Given the description of an element on the screen output the (x, y) to click on. 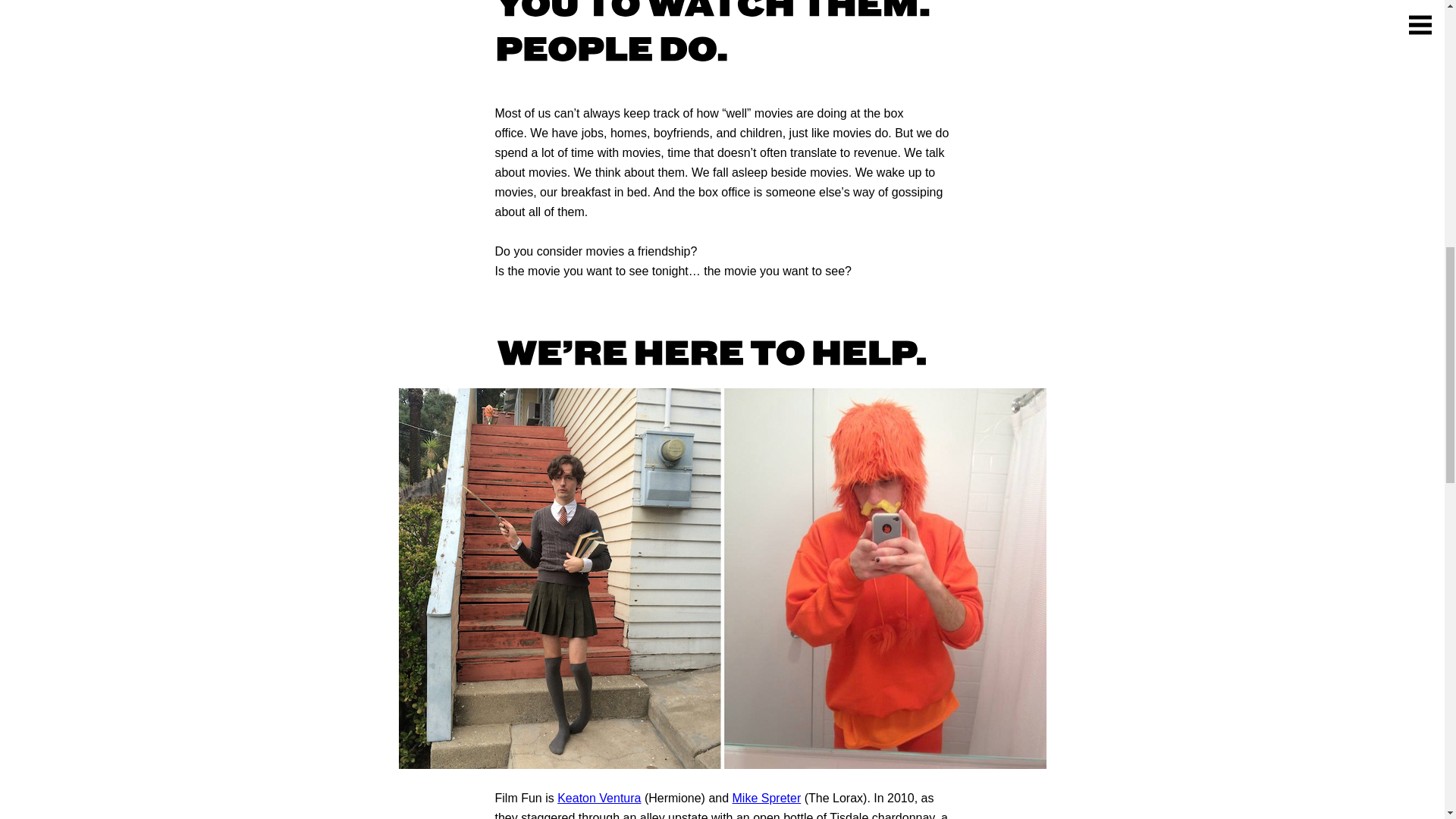
Mike Spreter (767, 797)
Keaton Ventura (598, 797)
